Given the description of an element on the screen output the (x, y) to click on. 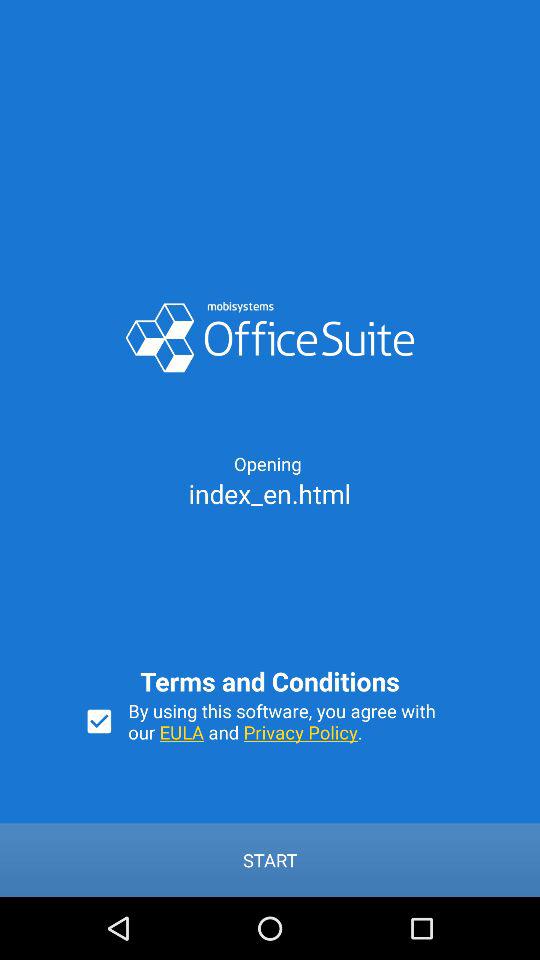
jump until start button (270, 859)
